Given the description of an element on the screen output the (x, y) to click on. 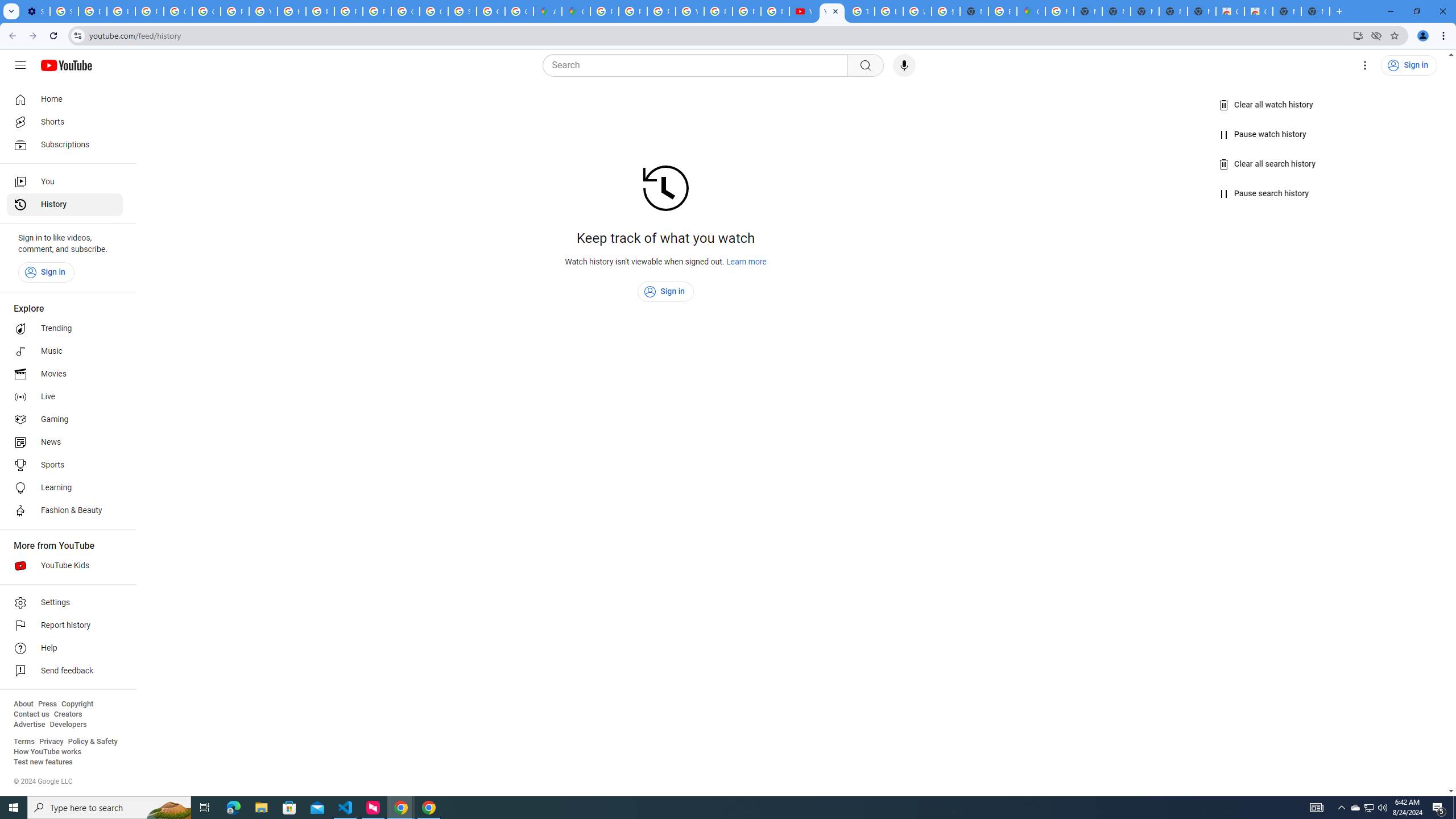
YouTube Home (66, 65)
Policy & Safety (91, 741)
Learning (64, 487)
New Tab (1315, 11)
Subscriptions (64, 144)
About (23, 703)
Tips & tricks for Chrome - Google Chrome Help (860, 11)
Google Account Help (178, 11)
Learn more (746, 261)
